Given the description of an element on the screen output the (x, y) to click on. 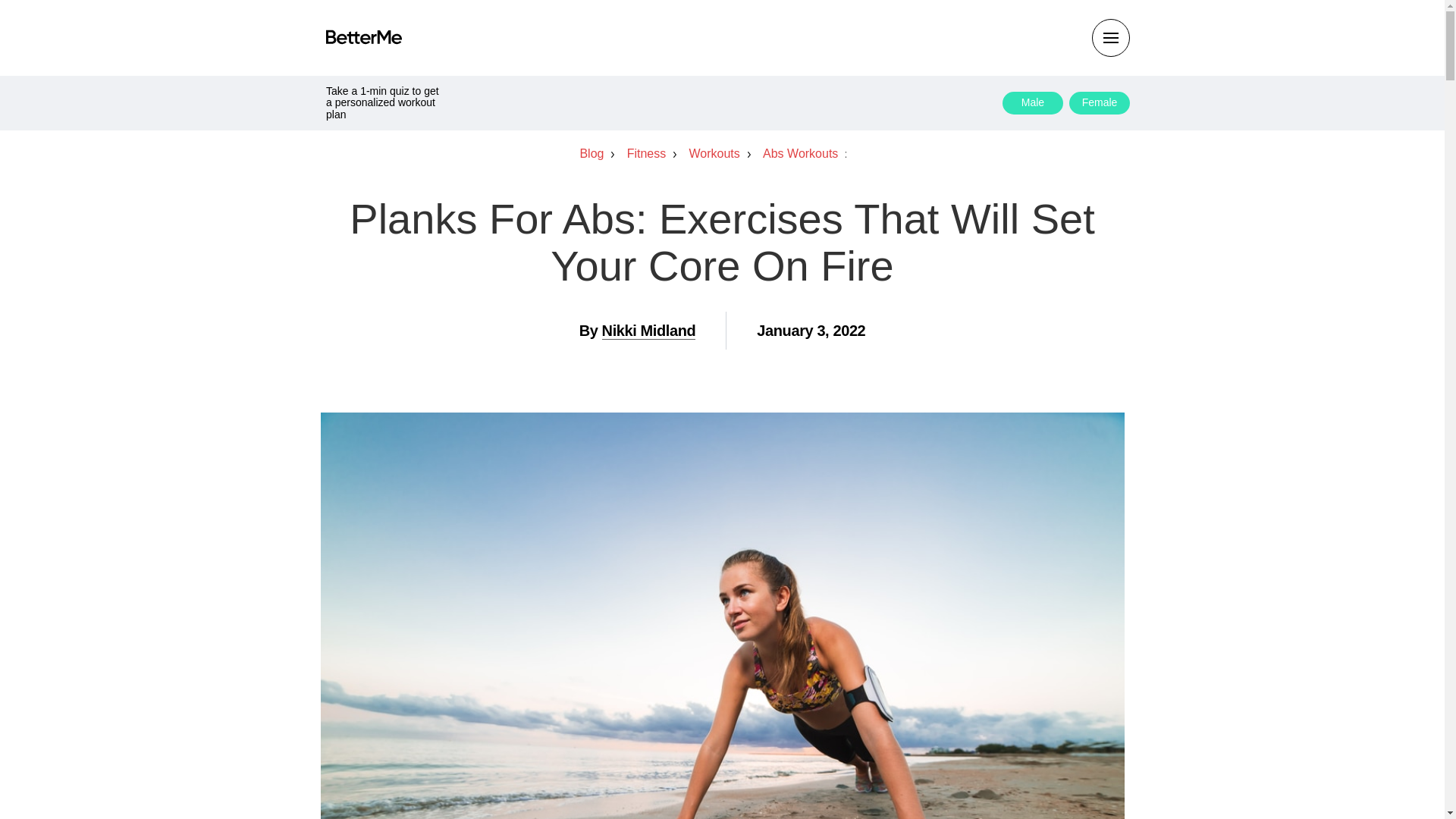
Workouts (721, 153)
Nikki Midland (648, 330)
Blog (599, 153)
BetterMe Blog (363, 36)
Male (1032, 102)
Female (1098, 102)
Fitness (654, 153)
Abs Workouts (807, 153)
